Given the description of an element on the screen output the (x, y) to click on. 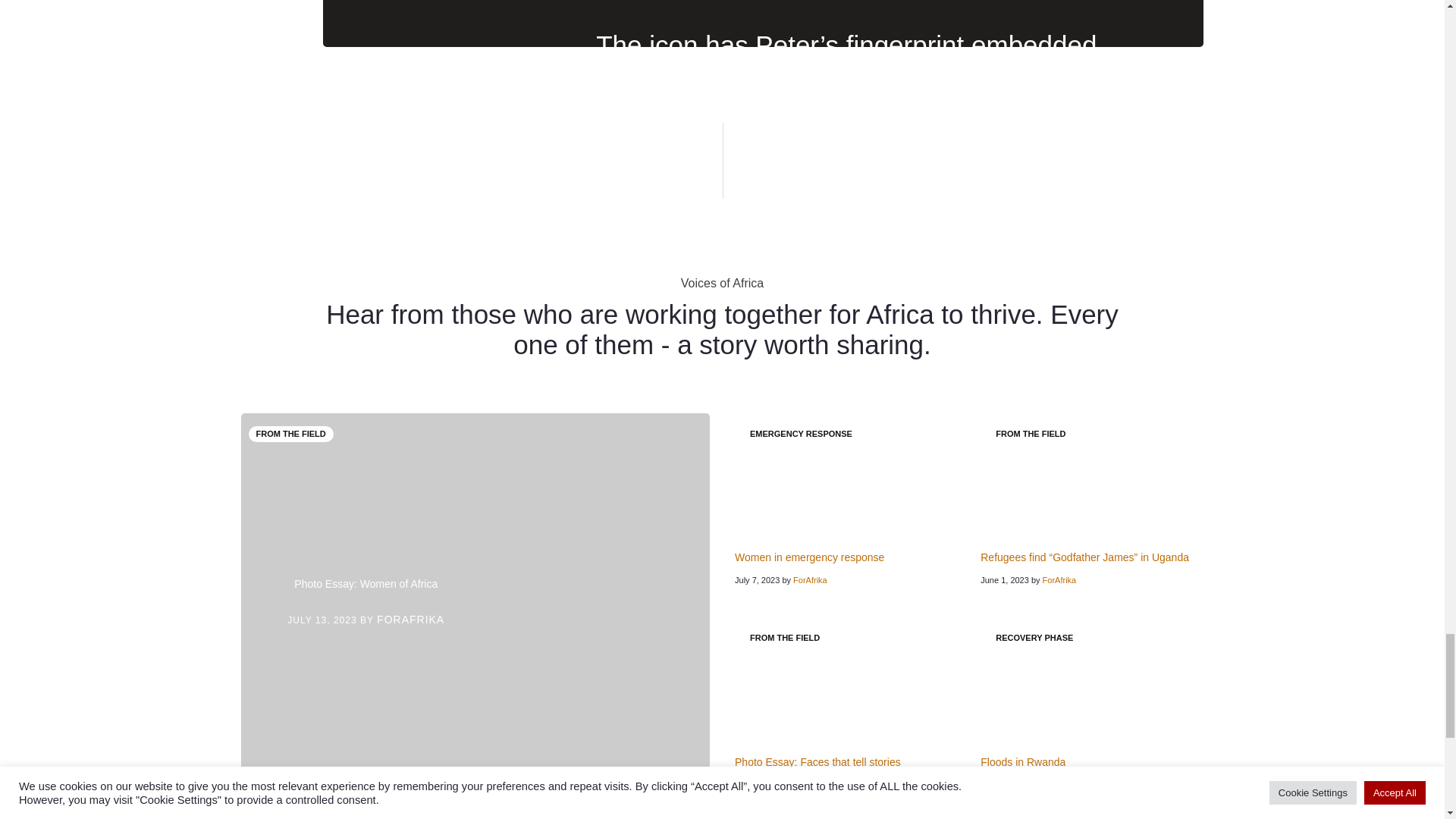
40 Years icon white (496, 105)
Women in emergency response (809, 557)
ForAfrika (810, 579)
FORAFRIKA (410, 619)
FROM THE FIELD (290, 433)
Photo Essay: Women of Africa (366, 583)
EMERGENCY RESPONSE (801, 433)
Women in emergency response (846, 477)
